Given the description of an element on the screen output the (x, y) to click on. 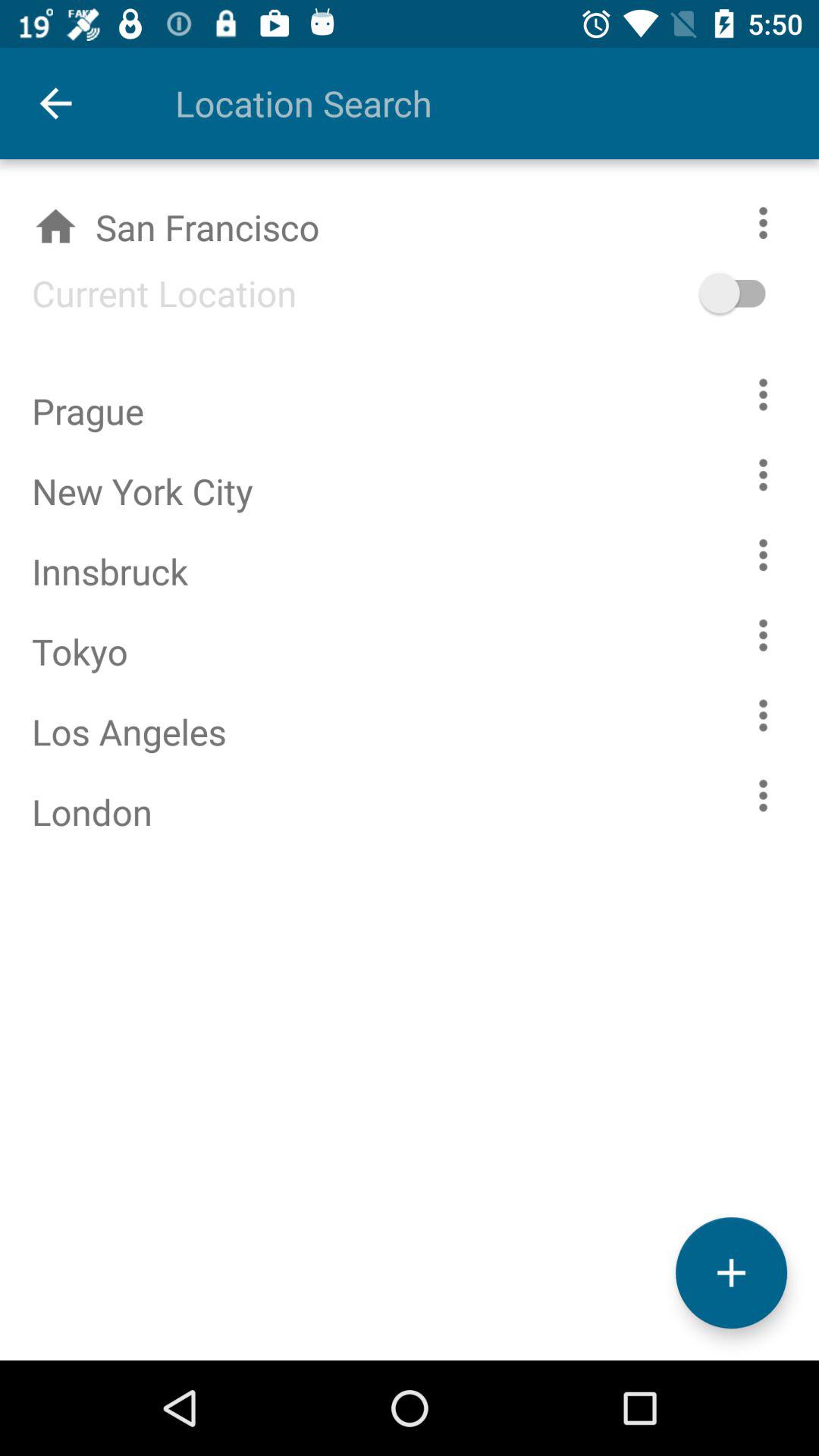
toggle more options (763, 474)
